Given the description of an element on the screen output the (x, y) to click on. 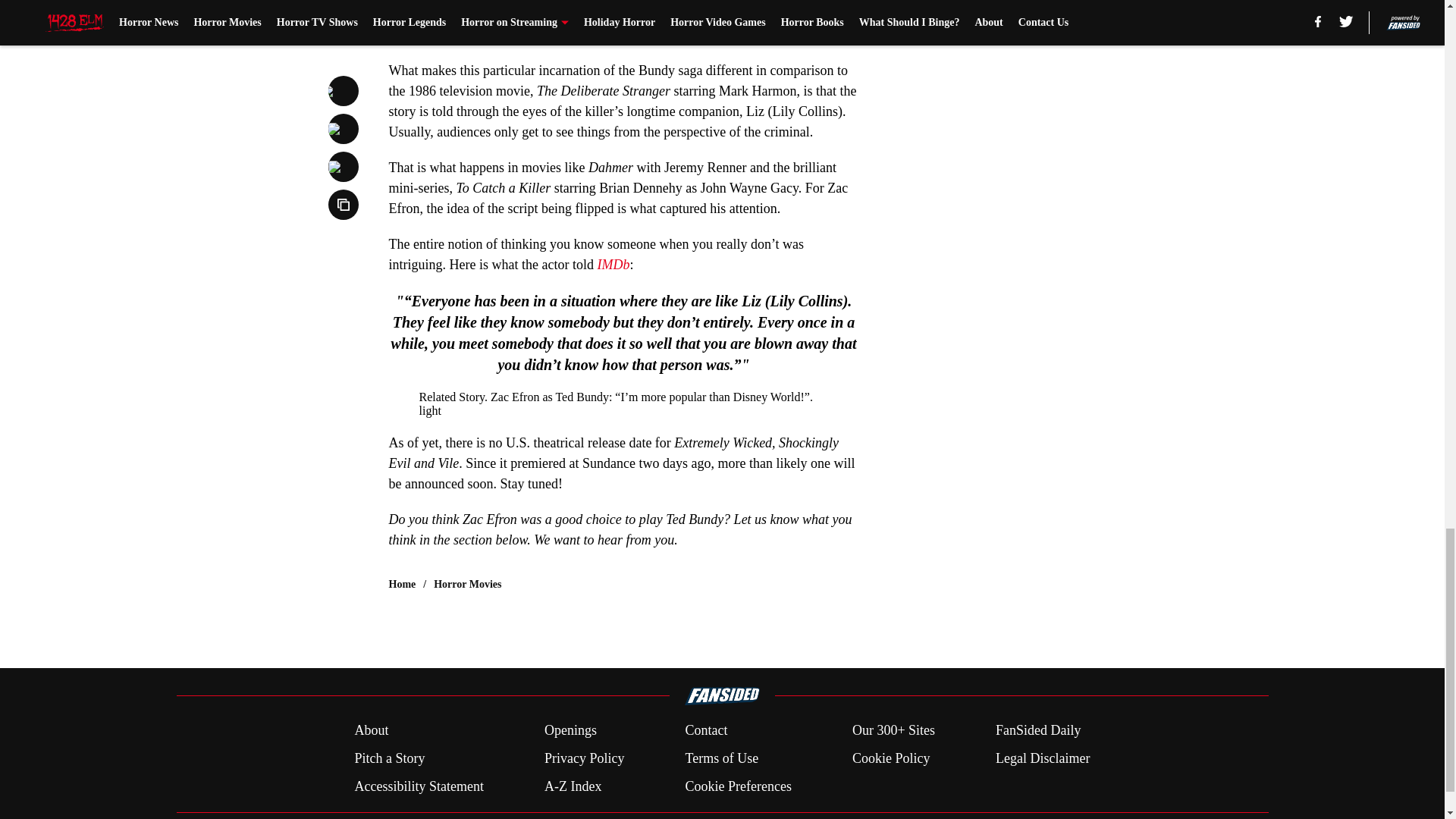
Openings (570, 730)
Contact (705, 730)
Horror Movies (466, 584)
FanSided Daily (1038, 730)
IMDb (612, 264)
About (370, 730)
Home (401, 584)
